Given the description of an element on the screen output the (x, y) to click on. 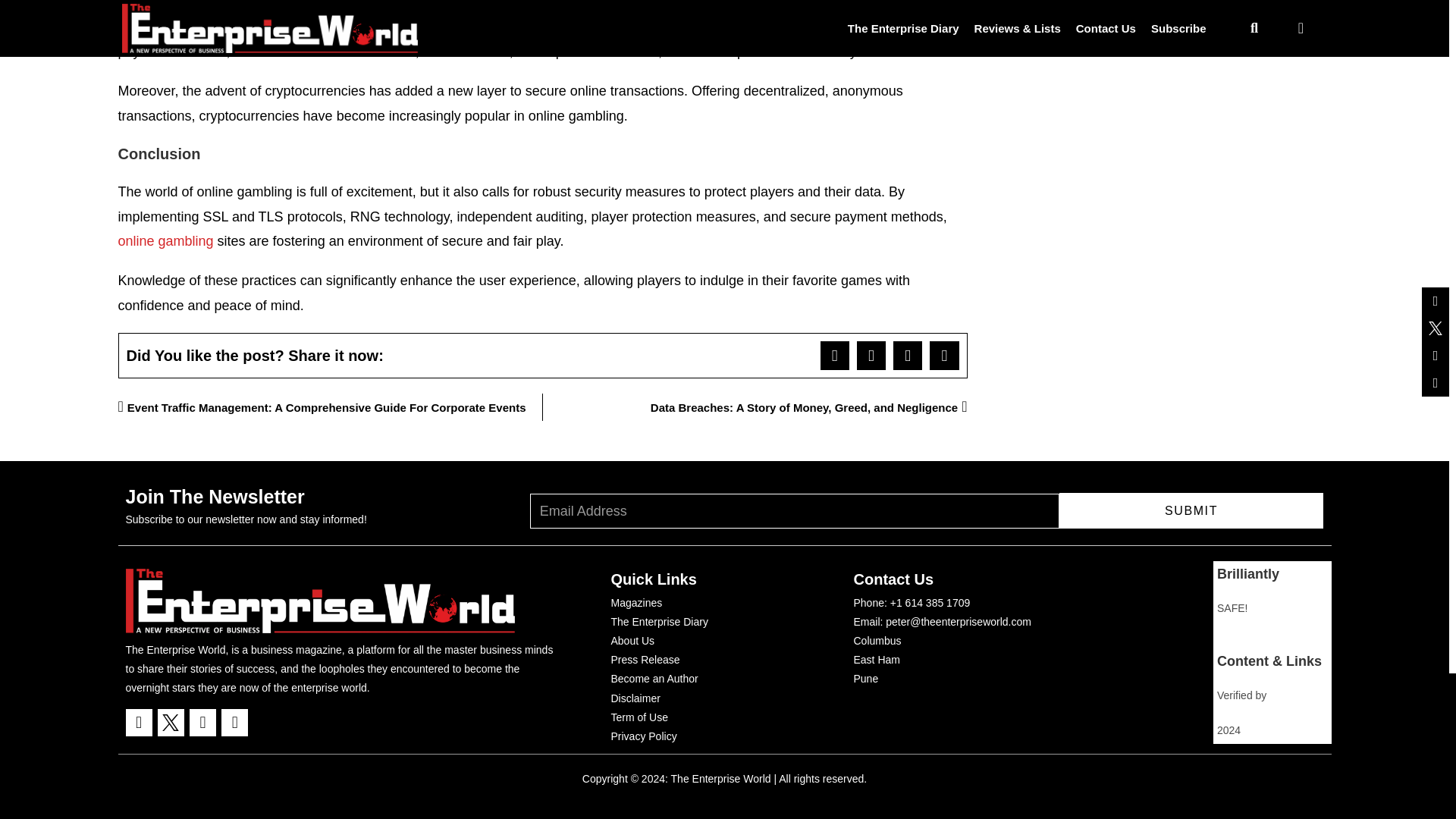
online gambling (165, 240)
Data Breaches: A Story of Money, Greed, and Negligence (755, 406)
